Given the description of an element on the screen output the (x, y) to click on. 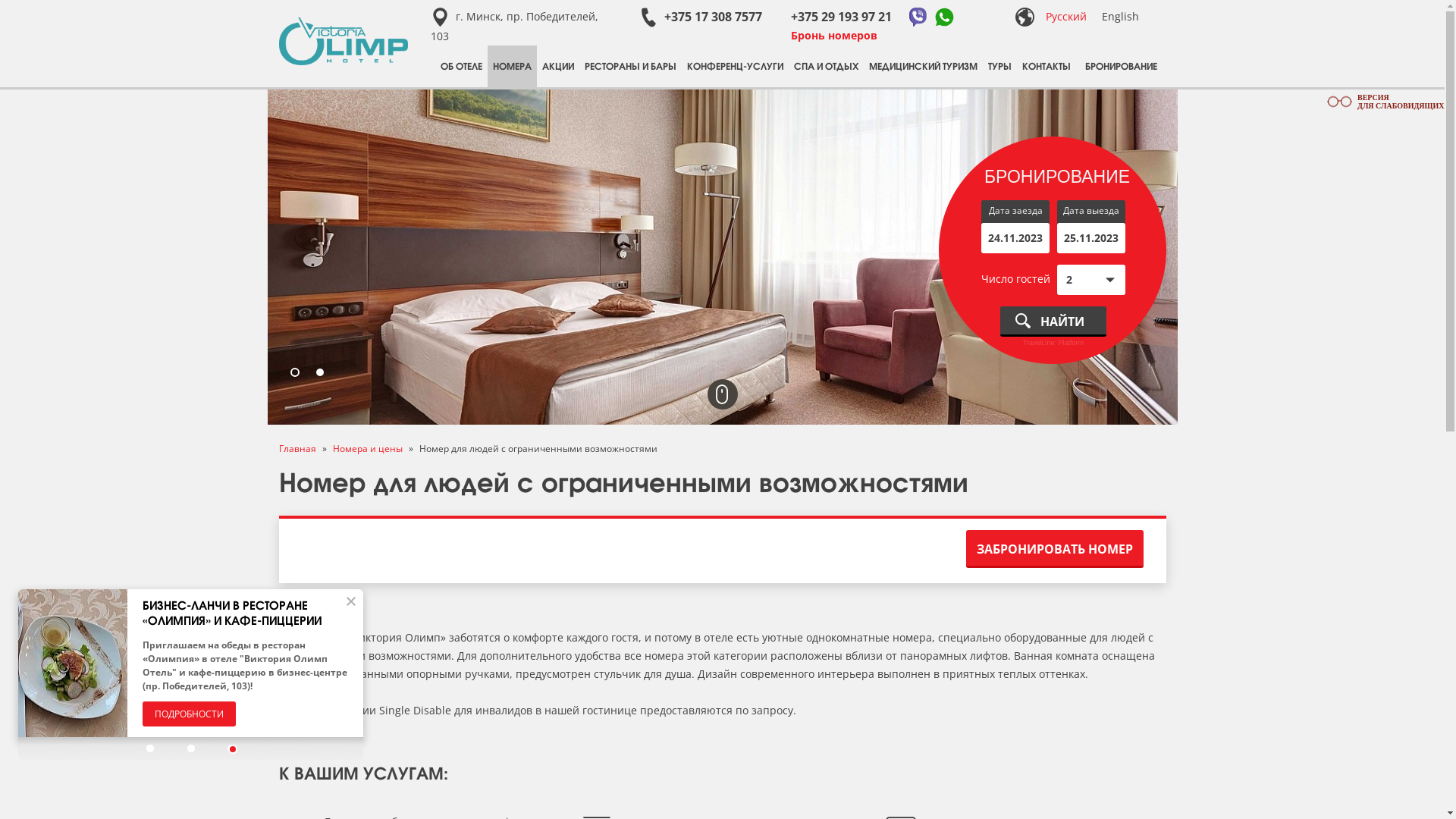
+375 17 308 7577 Element type: text (699, 16)
1 Element type: text (294, 372)
2 Element type: text (319, 372)
English Element type: text (1119, 16)
